Given the description of an element on the screen output the (x, y) to click on. 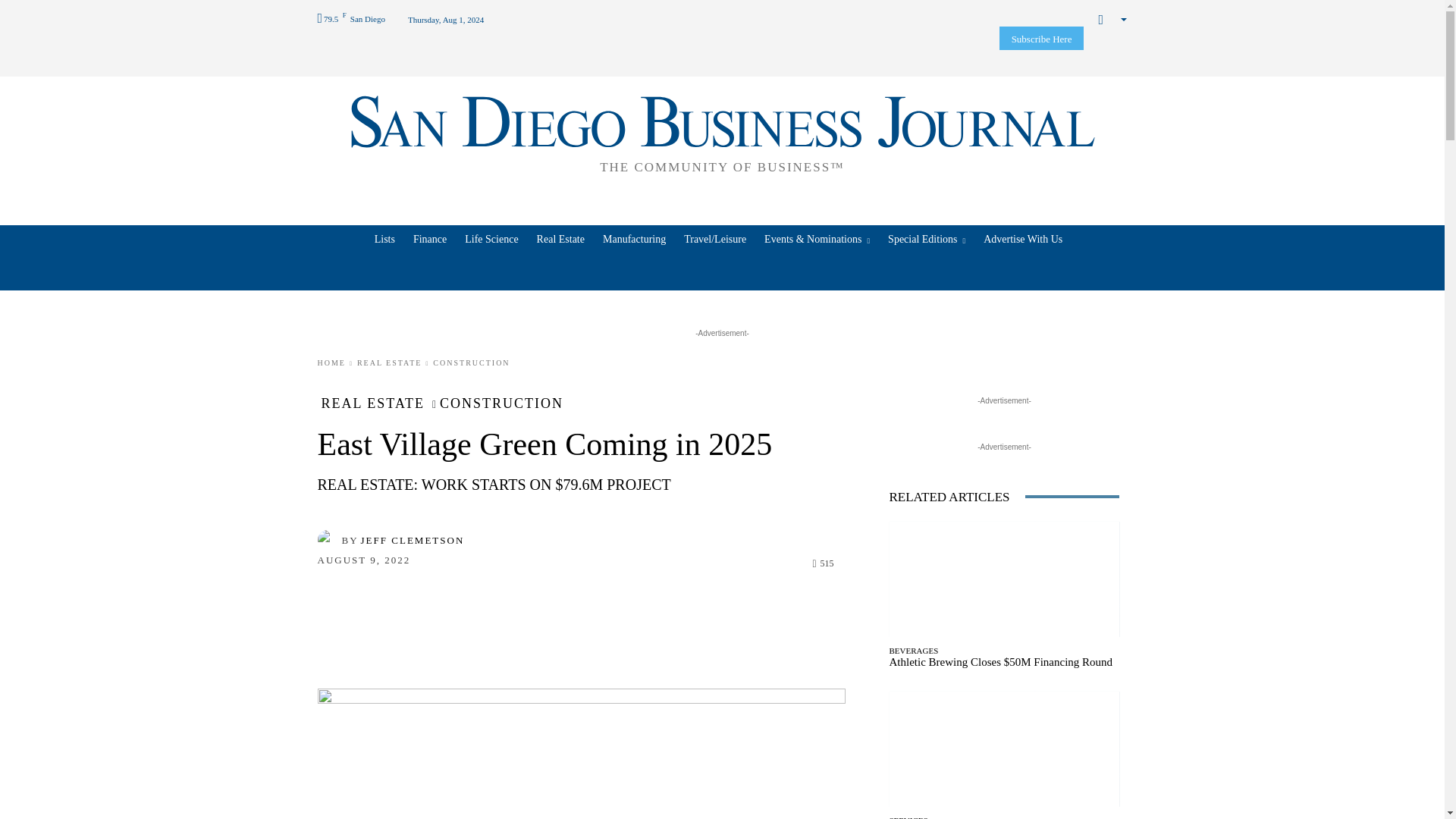
San Diego Business Journal Logo (721, 132)
